Given the description of an element on the screen output the (x, y) to click on. 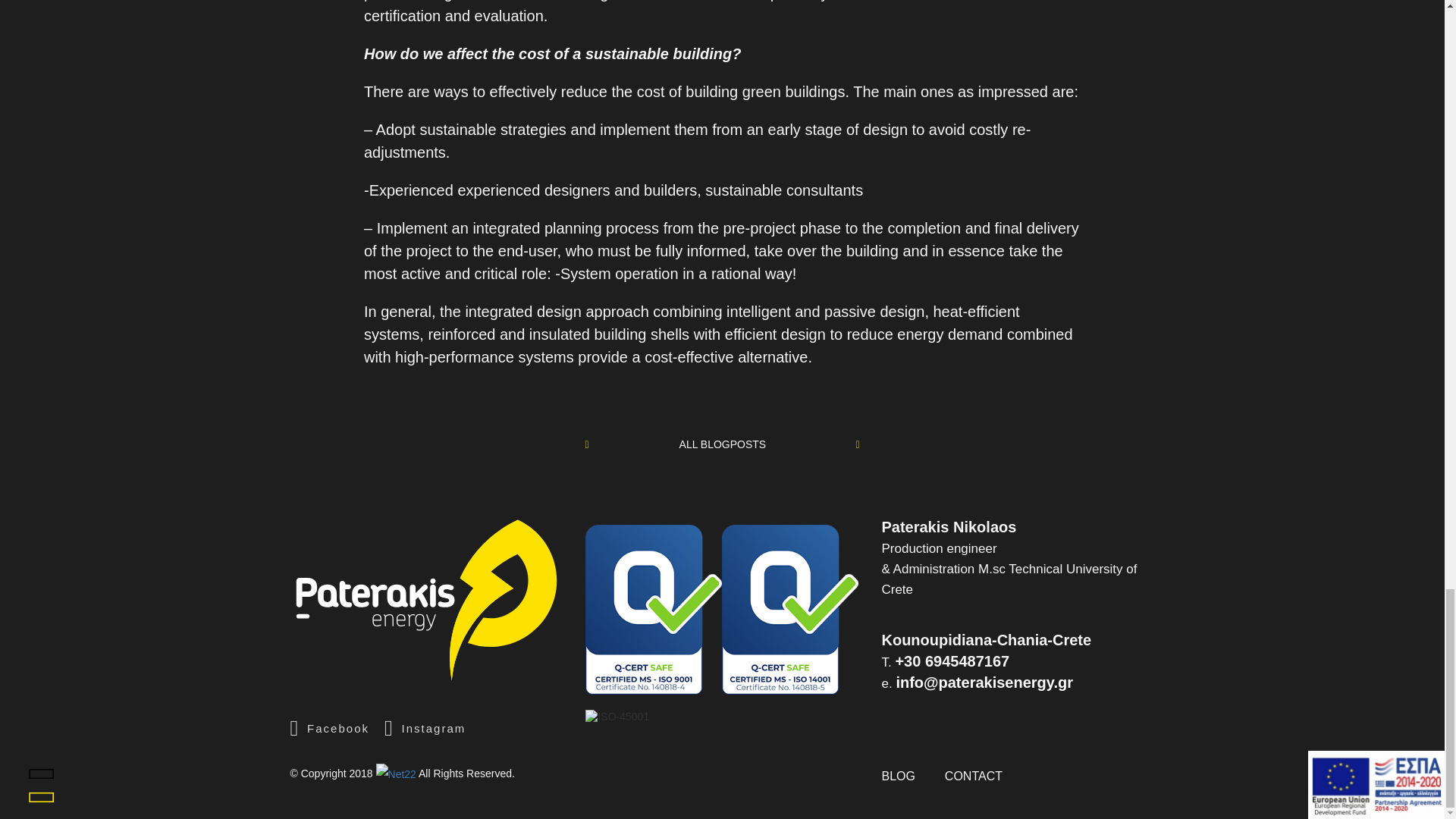
ALL BLOGPOSTS (723, 444)
next-blog (600, 444)
read-more (723, 444)
NEXT (843, 444)
Instagram (424, 728)
PREV (600, 444)
Facebook (328, 728)
prev-page (843, 444)
